Given the description of an element on the screen output the (x, y) to click on. 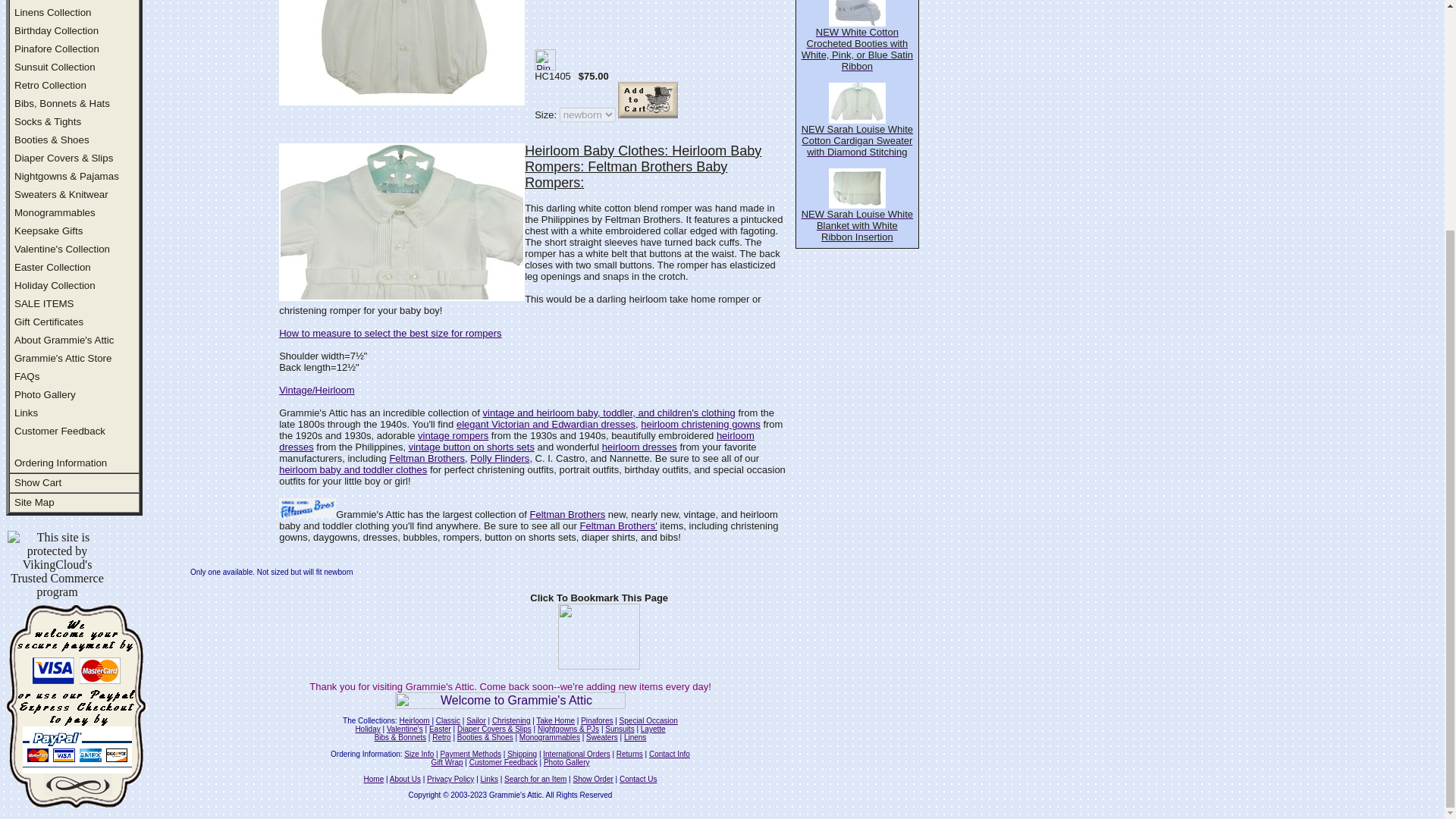
Monogrammables (55, 212)
Linens Collection (52, 12)
About Grammie's Attic (63, 339)
Customer Feedback (59, 430)
Pinafore Collection (56, 48)
Keepsake Gifts (48, 230)
Holiday Collection (55, 285)
Gift Certificates (48, 321)
Sunsuit Collection (55, 66)
